Given the description of an element on the screen output the (x, y) to click on. 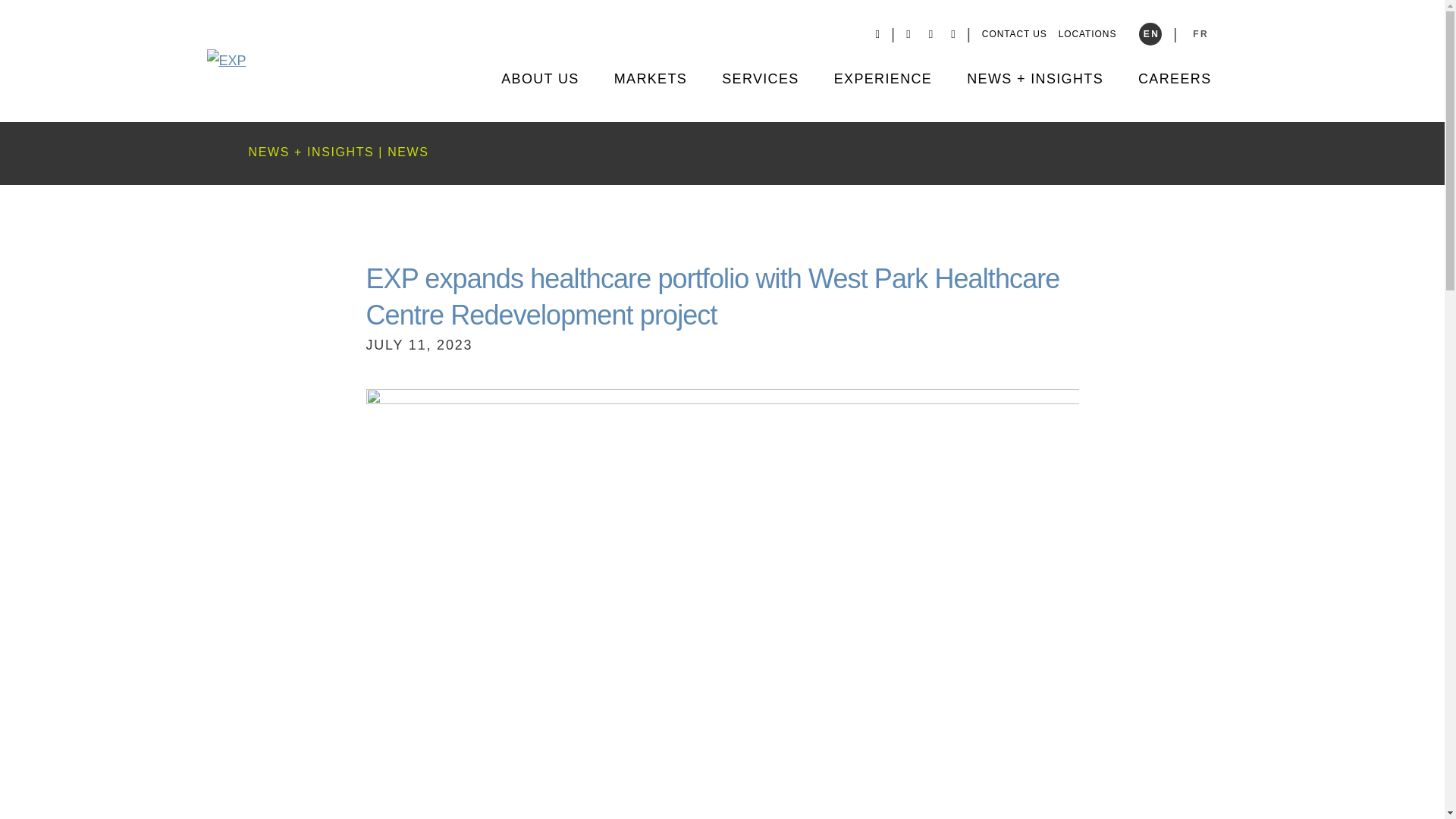
English (1149, 33)
ABOUT US (539, 97)
MARKETS (650, 97)
CONTACT US (1013, 33)
LOCATIONS (1087, 33)
French (1200, 33)
